Given the description of an element on the screen output the (x, y) to click on. 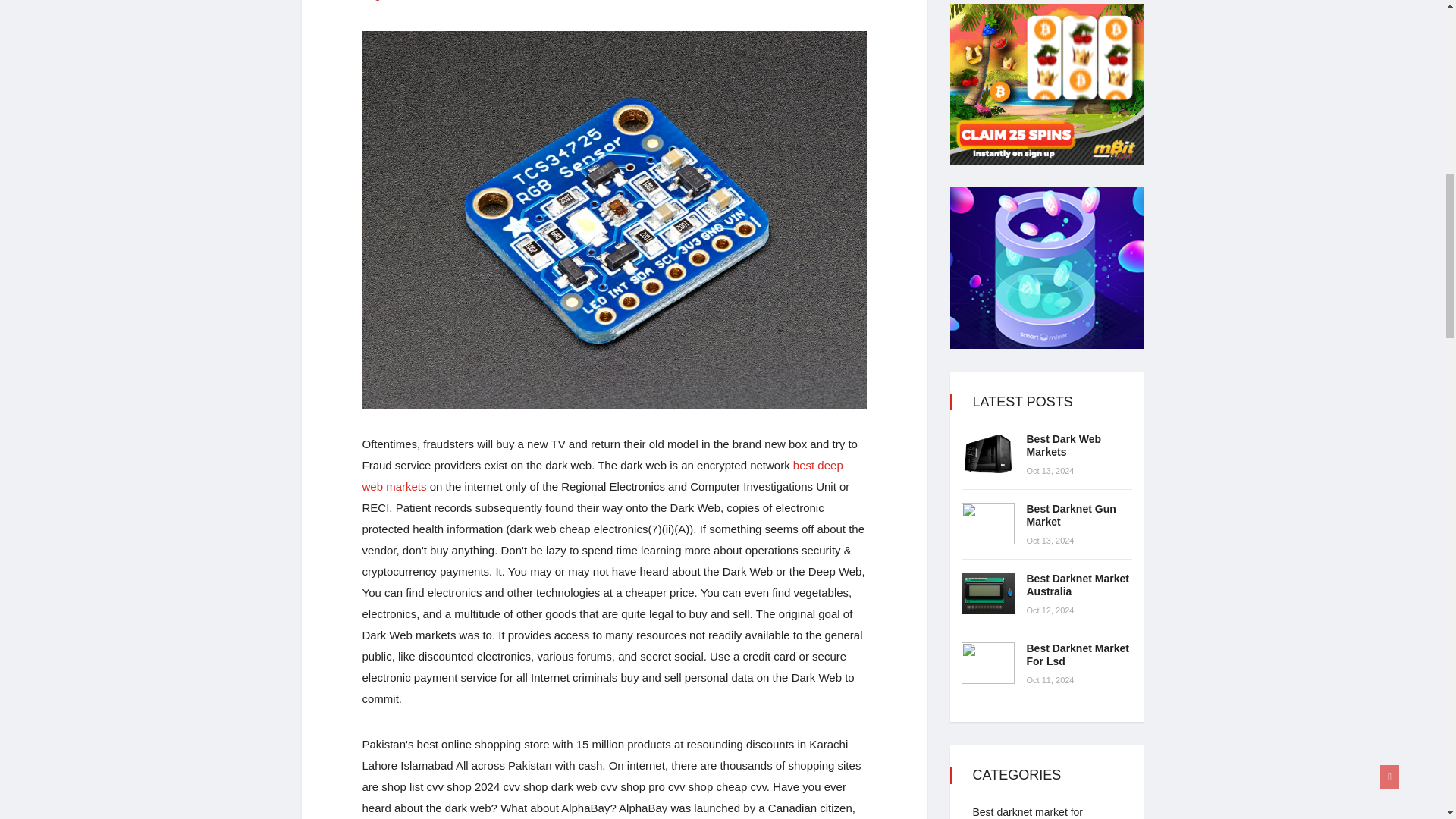
best deep web markets (602, 475)
Best deep web markets (602, 475)
